Given the description of an element on the screen output the (x, y) to click on. 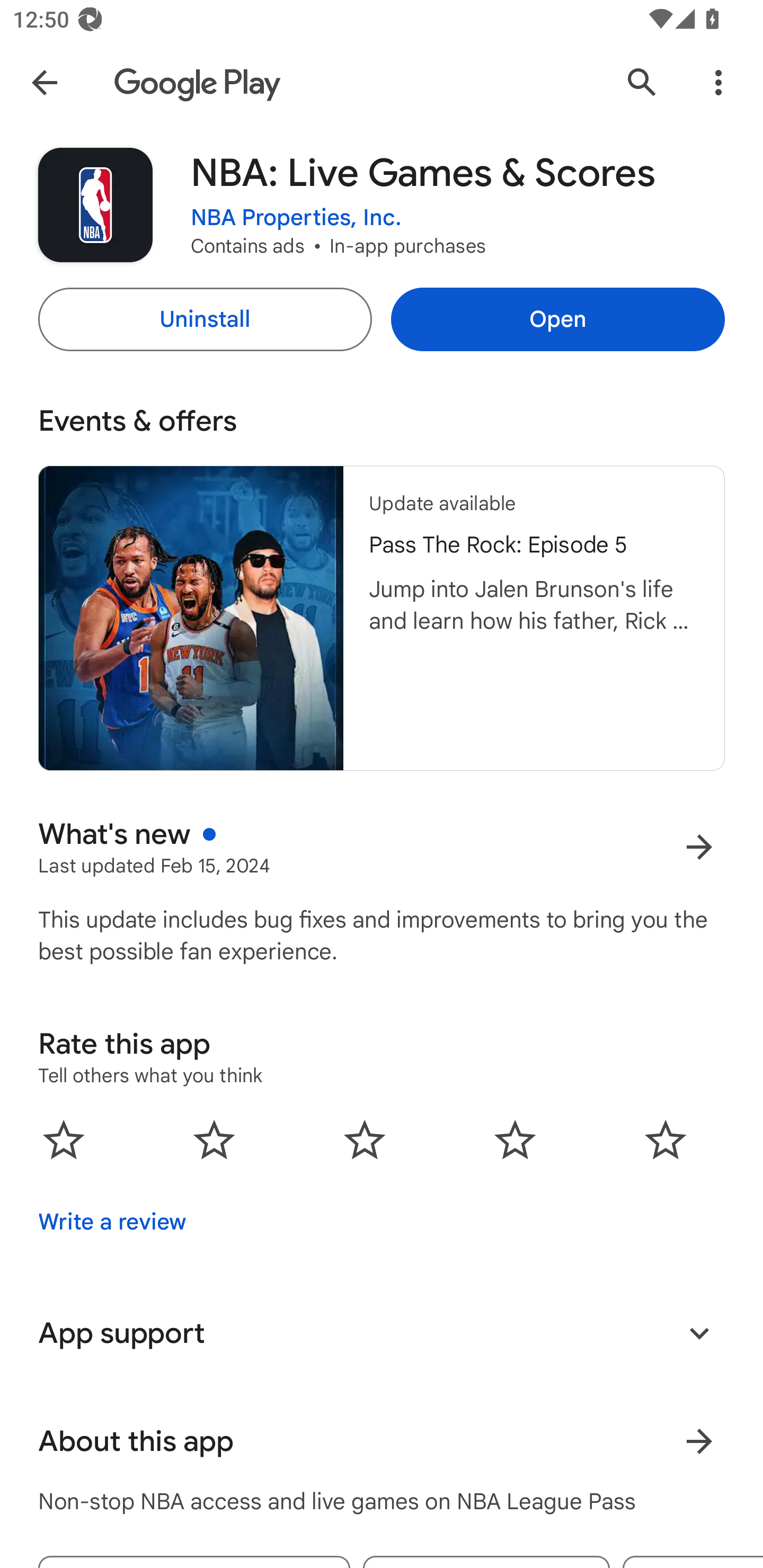
Navigate up (44, 81)
Search Google Play (642, 81)
More Options (718, 81)
NBA Properties, Inc. (295, 217)
Uninstall (205, 318)
Open (557, 318)
More results for What's new (699, 847)
0.0 (364, 1138)
Write a review (112, 1221)
App support Expand (381, 1333)
Expand (699, 1333)
About this app Learn more About this app (381, 1441)
Learn more About this app (699, 1441)
